Given the description of an element on the screen output the (x, y) to click on. 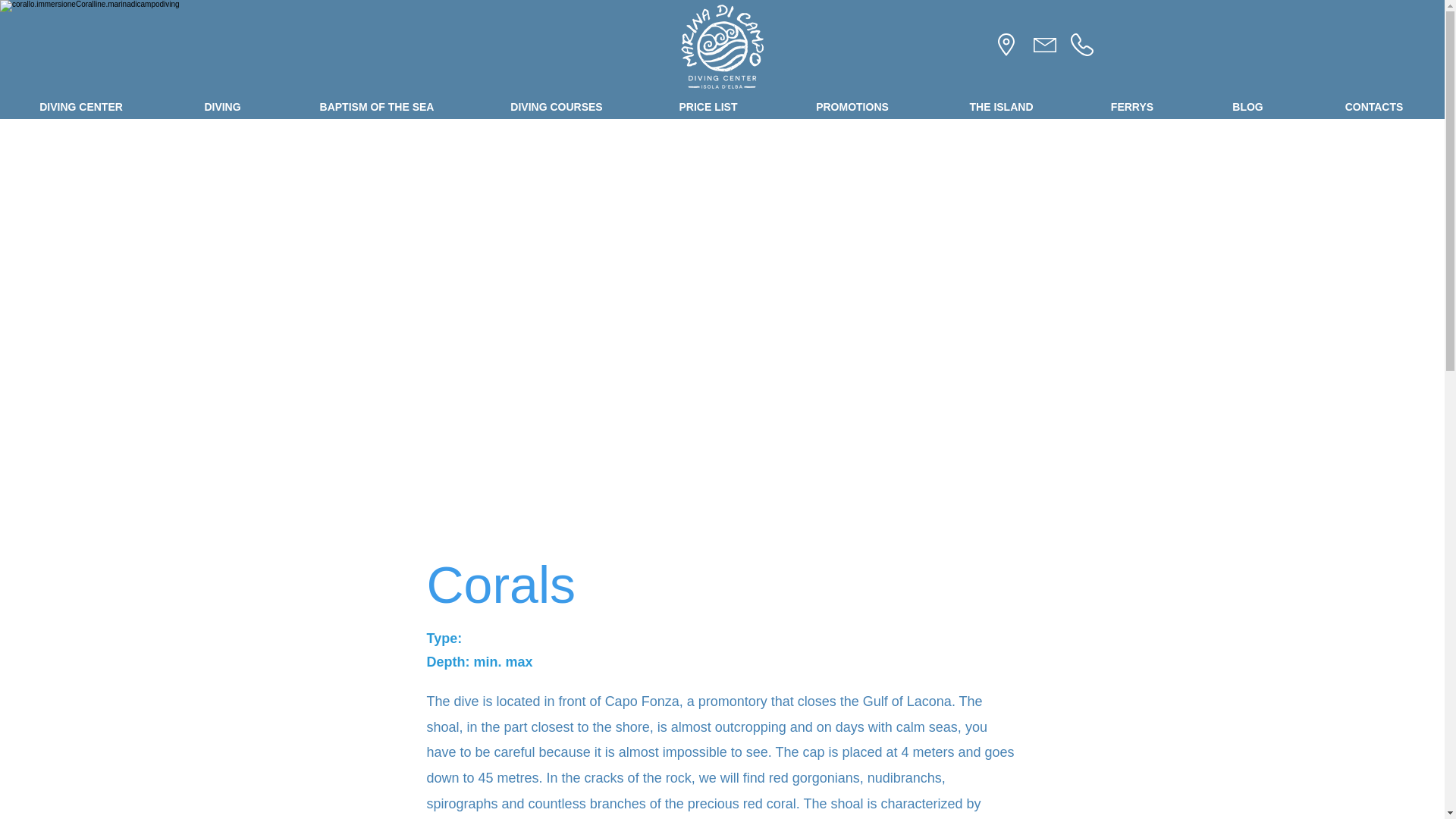
DIVING CENTER (80, 106)
DIVING (221, 106)
PROMOTIONS (852, 106)
THE ISLAND (1000, 106)
BLOG (1247, 106)
FERRYS (1131, 106)
PRICE LIST (708, 106)
DIVING COURSES (556, 106)
BAPTISM OF THE SEA (376, 106)
